Given the description of an element on the screen output the (x, y) to click on. 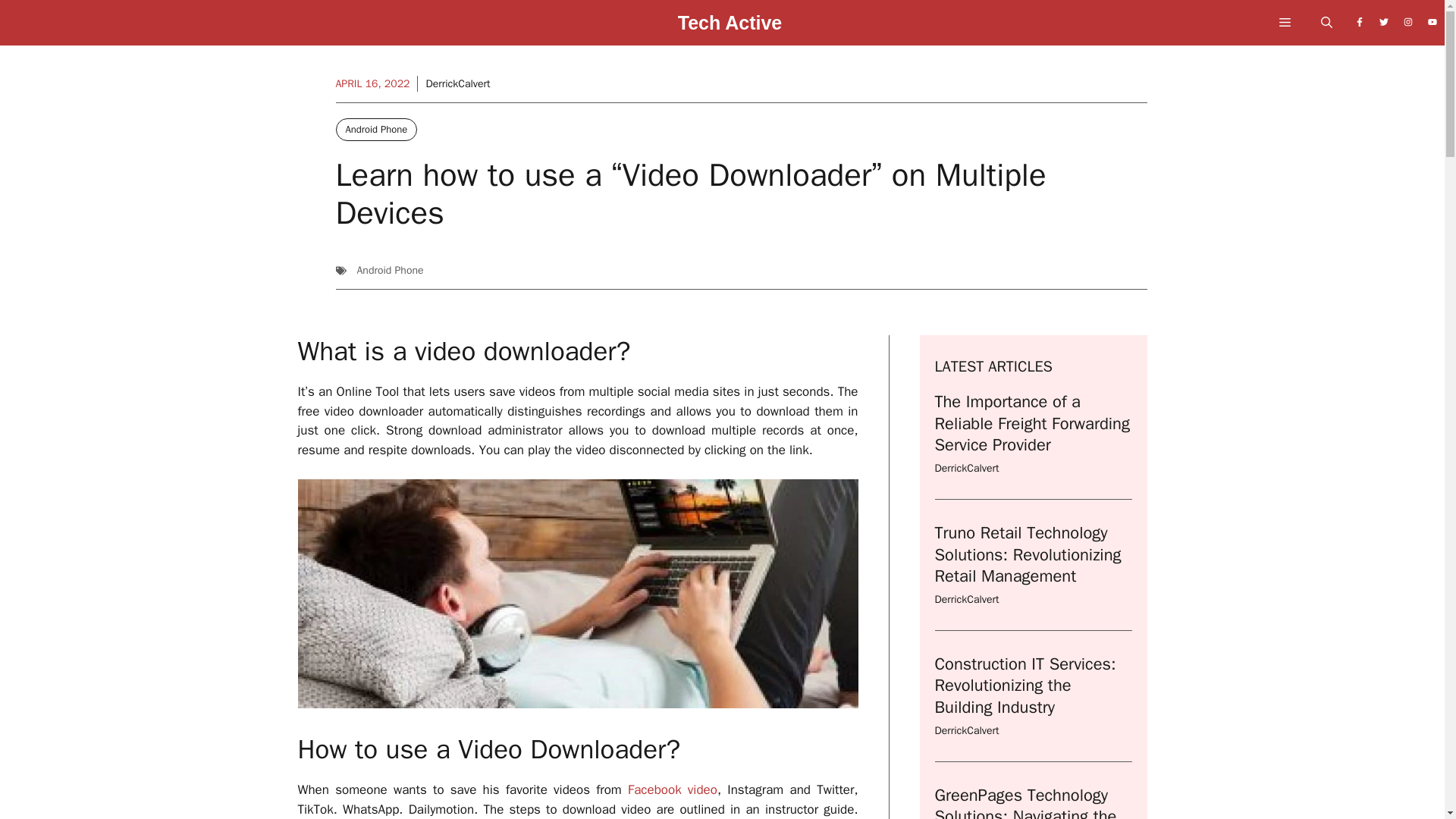
DerrickCalvert (966, 730)
Facebook video (672, 789)
DerrickCalvert (966, 599)
Tech Active (730, 26)
Android Phone (375, 128)
DerrickCalvert (966, 468)
Android Phone (389, 269)
DerrickCalvert (457, 83)
